Given the description of an element on the screen output the (x, y) to click on. 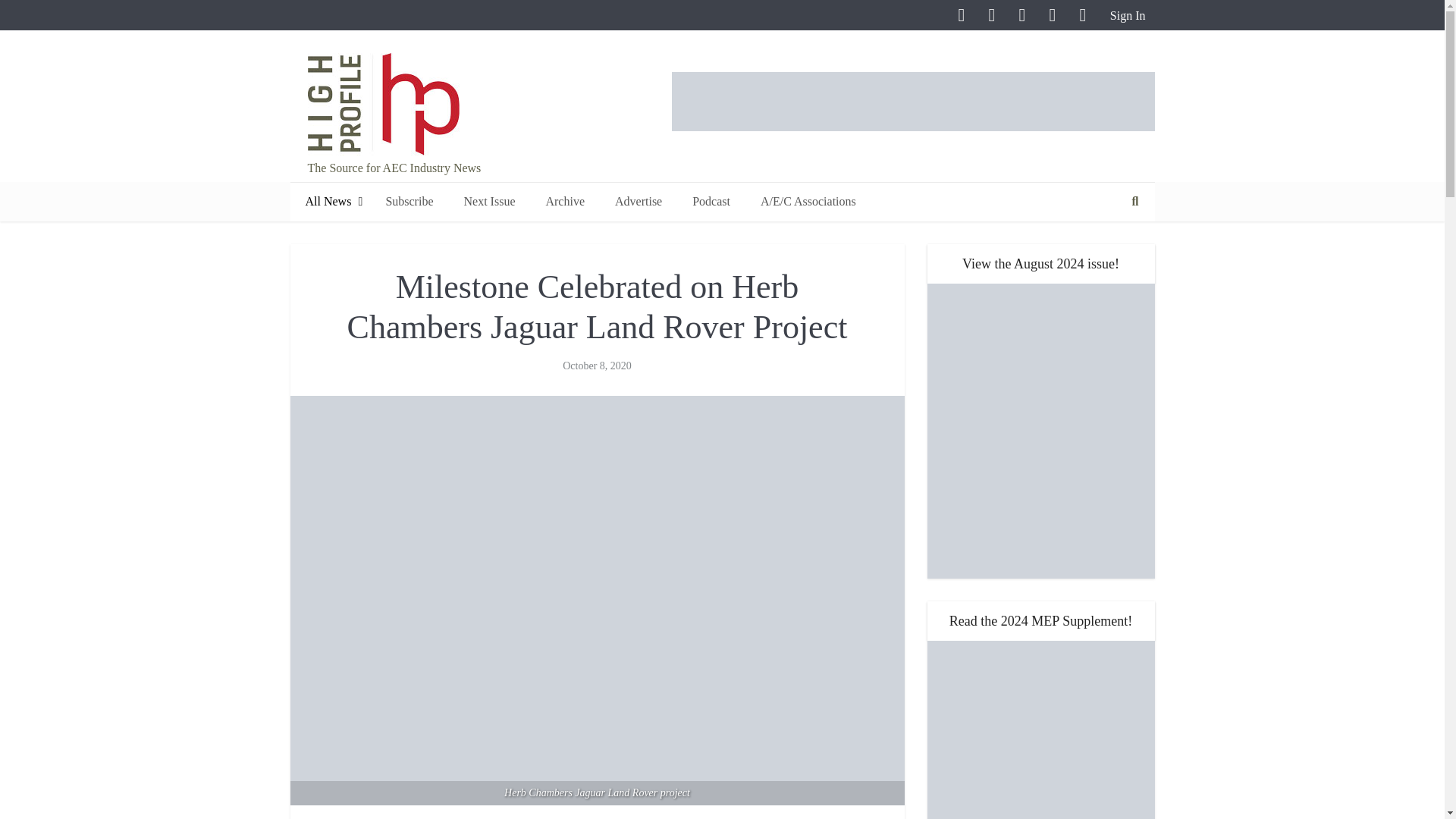
Sign In (1125, 15)
The Annual Green Supplement 2020 is Live! (1040, 729)
All News (329, 201)
